Given the description of an element on the screen output the (x, y) to click on. 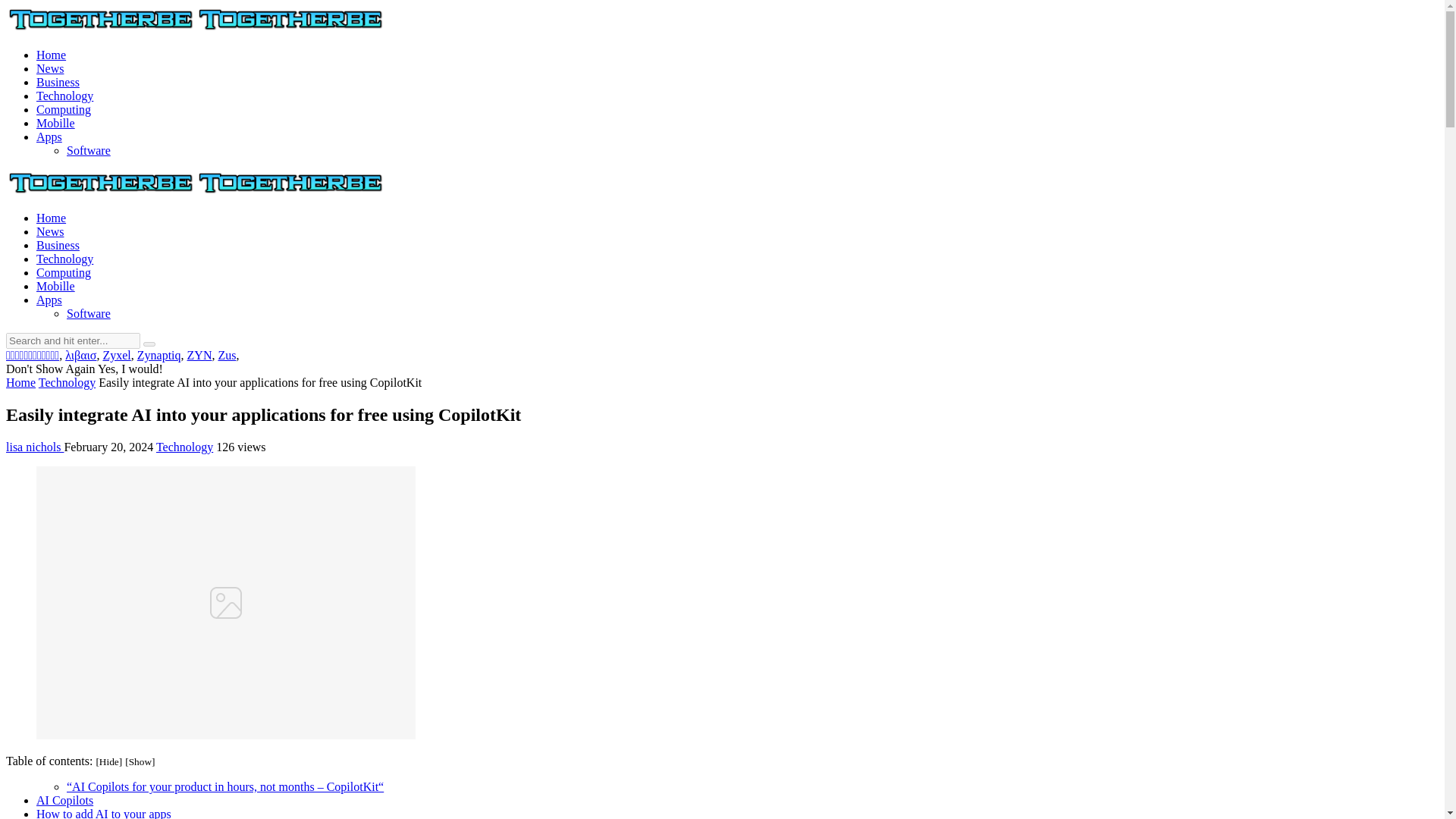
Software (88, 150)
Computing (63, 272)
Home (19, 382)
AI Copilots (64, 799)
Computing (63, 109)
Technology (64, 258)
Apps (49, 299)
Home (50, 54)
Zyxel (116, 354)
Mobille (55, 286)
Business (58, 82)
News (50, 68)
Technology (64, 95)
Software (88, 313)
ZYN (199, 354)
